Given the description of an element on the screen output the (x, y) to click on. 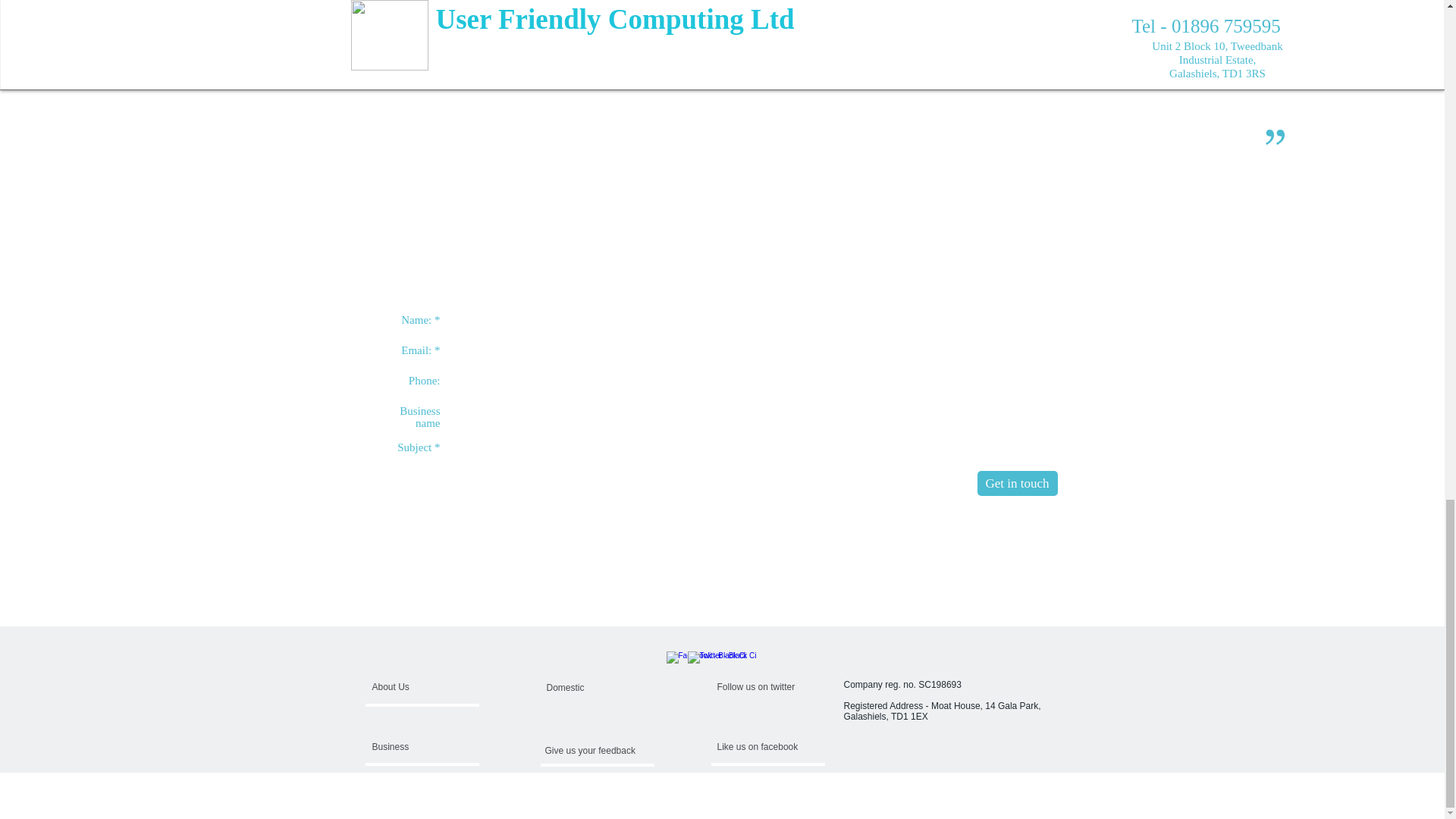
Follow us on twitter (758, 686)
Like us on facebook (762, 746)
Give us your feedback (590, 750)
Business (414, 746)
About Us (429, 686)
Domestic (581, 687)
Get in touch (1016, 483)
